Given the description of an element on the screen output the (x, y) to click on. 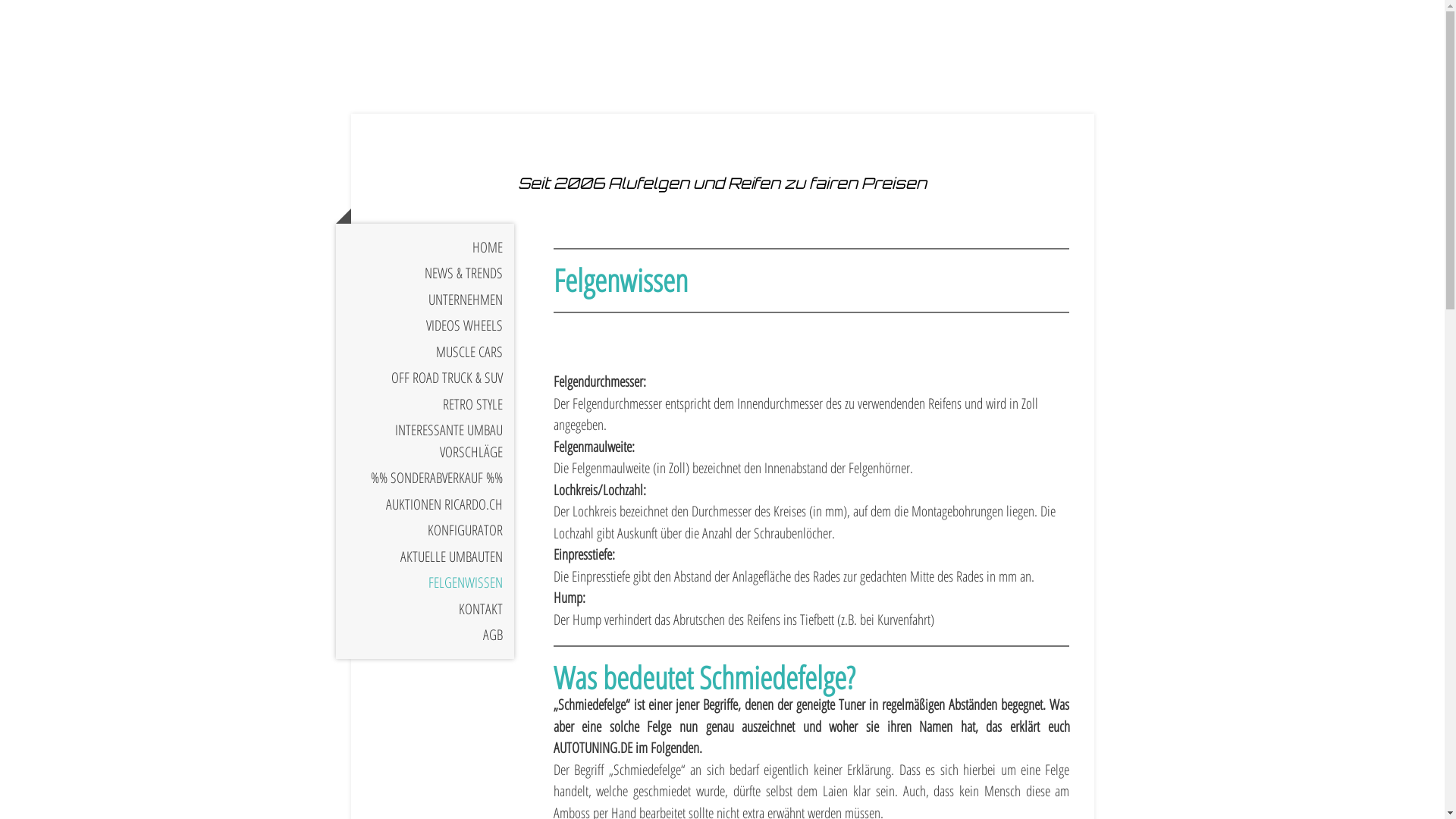
OFF ROAD TRUCK & SUV Element type: text (424, 377)
HOME Element type: text (424, 246)
KONTAKT Element type: text (424, 609)
FELGENWISSEN Element type: text (424, 582)
AGB Element type: text (424, 634)
MUSCLE CARS Element type: text (424, 351)
KONFIGURATOR Element type: text (424, 530)
VIDEOS WHEELS Element type: text (424, 325)
AUKTIONEN RICARDO.CH Element type: text (424, 504)
RETRO STYLE Element type: text (424, 404)
%% SONDERABVERKAUF %% Element type: text (424, 477)
UNTERNEHMEN Element type: text (424, 299)
Seit 2006 Alufelgen und Reifen zu fairen Preisen Element type: text (721, 182)
AKTUELLE UMBAUTEN Element type: text (424, 555)
NEWS & TRENDS Element type: text (424, 273)
